Given the description of an element on the screen output the (x, y) to click on. 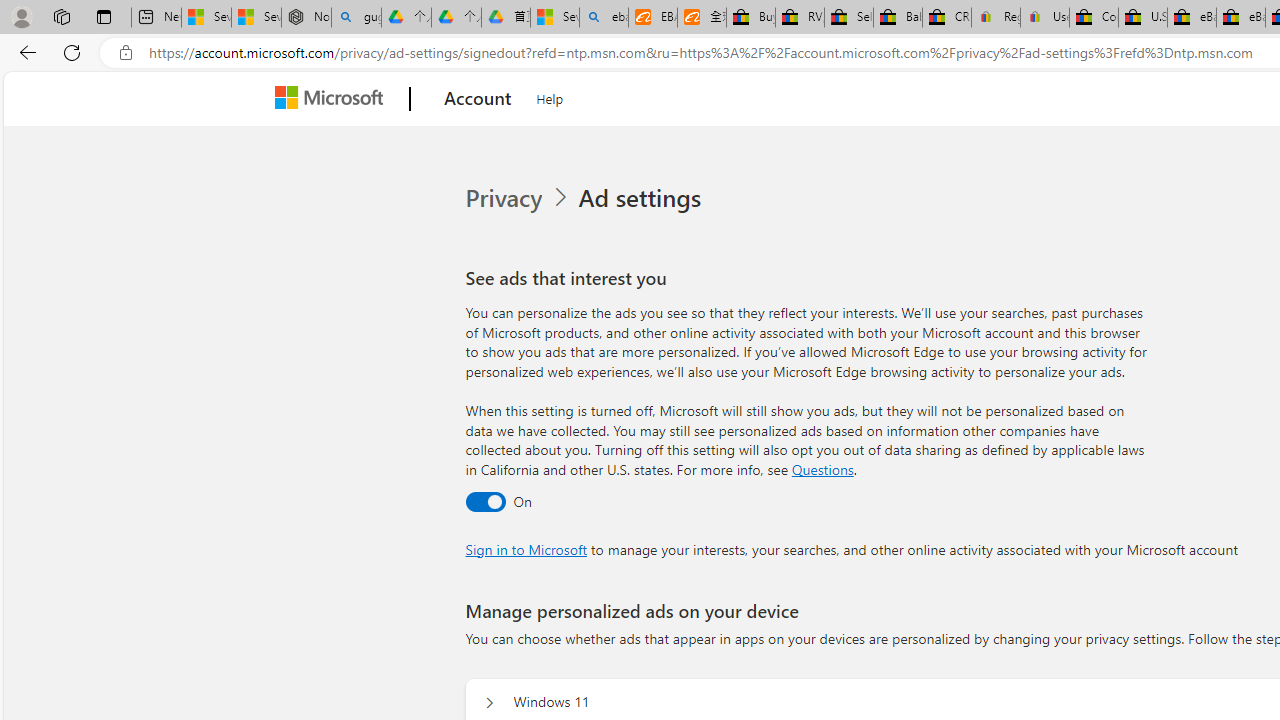
U.S. State Privacy Disclosures - eBay Inc. (1142, 17)
Personal Profile (21, 16)
Privacy (519, 197)
Help (550, 96)
View site information (125, 53)
ebay - Search (603, 17)
Microsoft (332, 99)
Manage personalized ads on your device Windows 11 (489, 702)
Sign in to Microsoft (525, 548)
Buy Auto Parts & Accessories | eBay (750, 17)
New tab (155, 17)
Tab actions menu (104, 16)
Baby Keepsakes & Announcements for sale | eBay (897, 17)
